Given the description of an element on the screen output the (x, y) to click on. 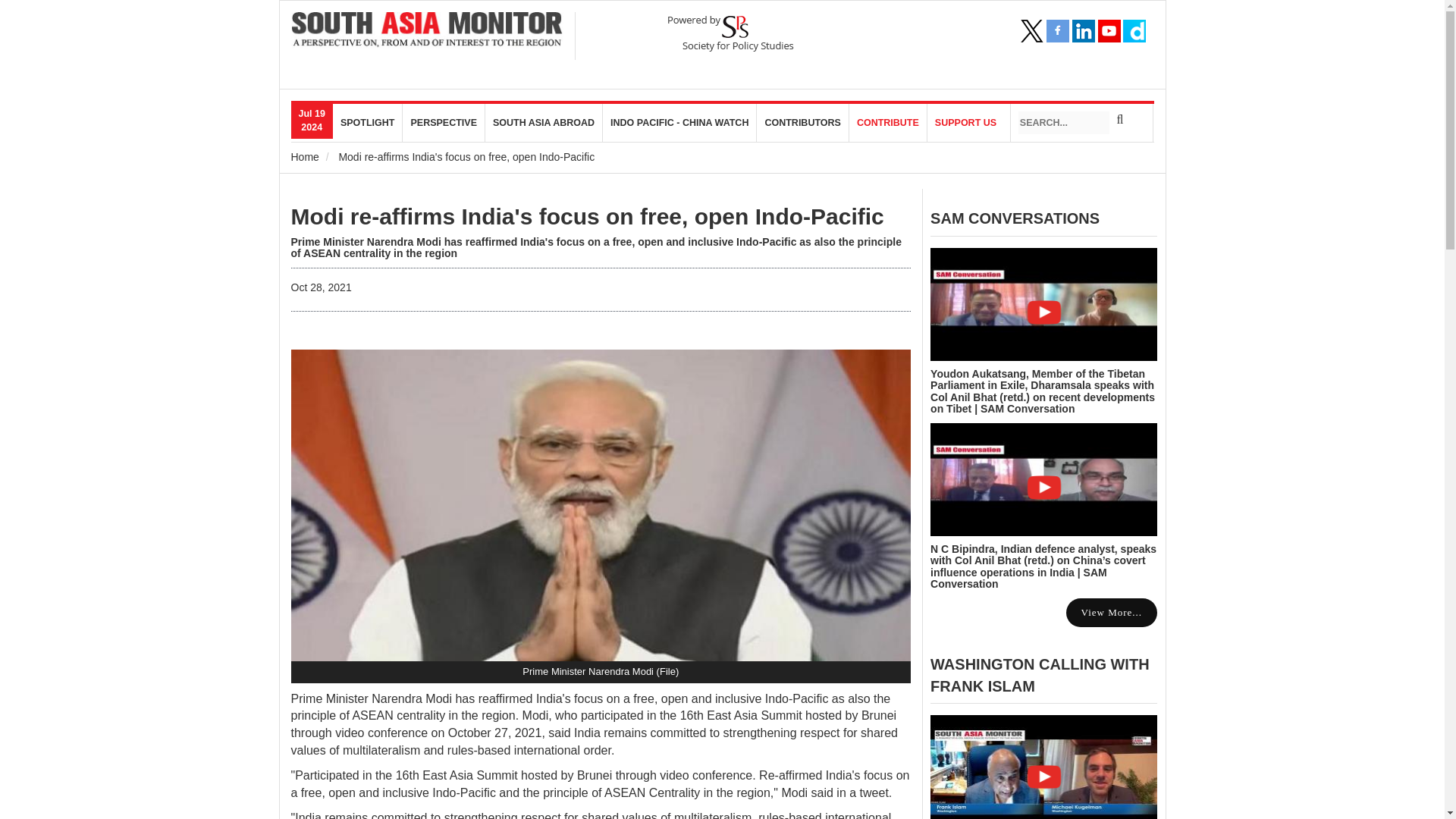
SUPPORT US (965, 122)
Home (427, 30)
SOUTH ASIA ABROAD (543, 122)
INDO PACIFIC - CHINA WATCH (679, 122)
Twitter (1031, 30)
Linkedin (1082, 30)
CONTRIBUTE (887, 122)
Home (304, 156)
Facebook (1057, 30)
Youtube (1109, 30)
SPOTLIGHT (368, 122)
